Given the description of an element on the screen output the (x, y) to click on. 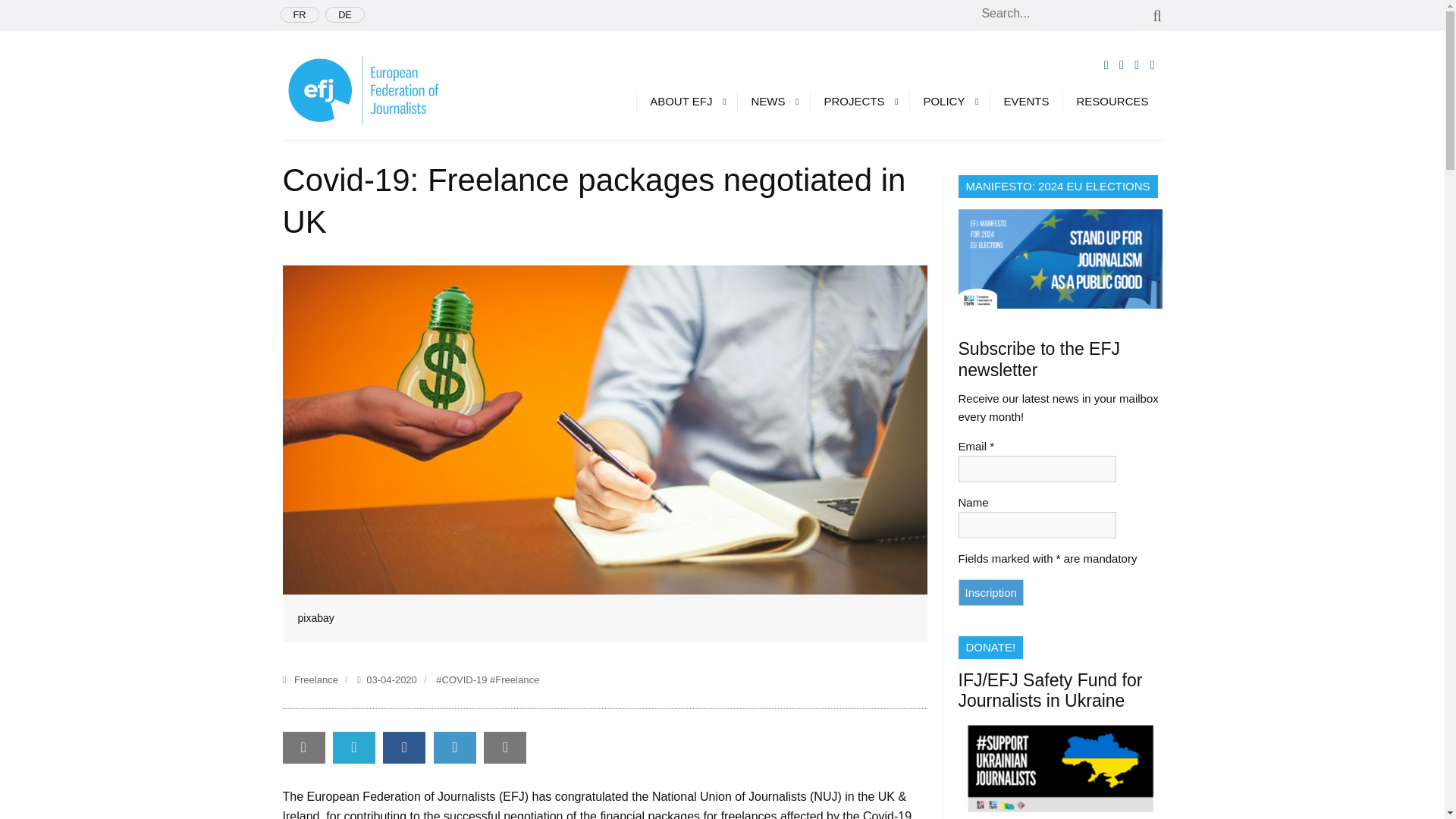
PROJECTS (858, 100)
Share on Facebook (403, 747)
DE (344, 14)
Share on LinkedIn (454, 746)
POLICY (949, 100)
ABOUT EFJ (686, 100)
Print this page (504, 746)
FR (299, 14)
Share by e-mail (303, 746)
Inscription (990, 592)
NEWS (772, 100)
